Given the description of an element on the screen output the (x, y) to click on. 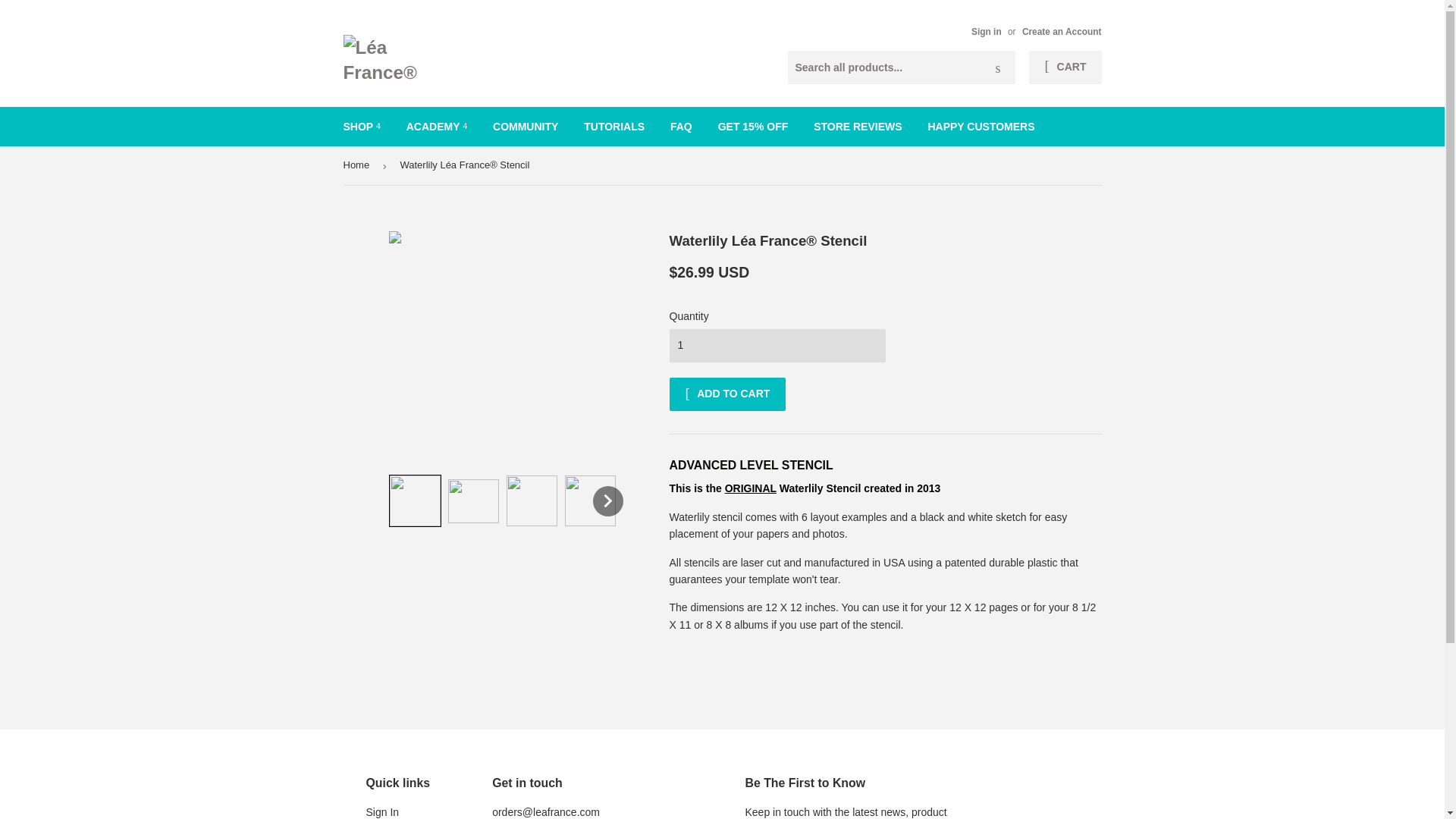
Create an Account (1062, 31)
Sign in (986, 31)
CART (1064, 67)
Search (997, 68)
1 (776, 345)
